Given the description of an element on the screen output the (x, y) to click on. 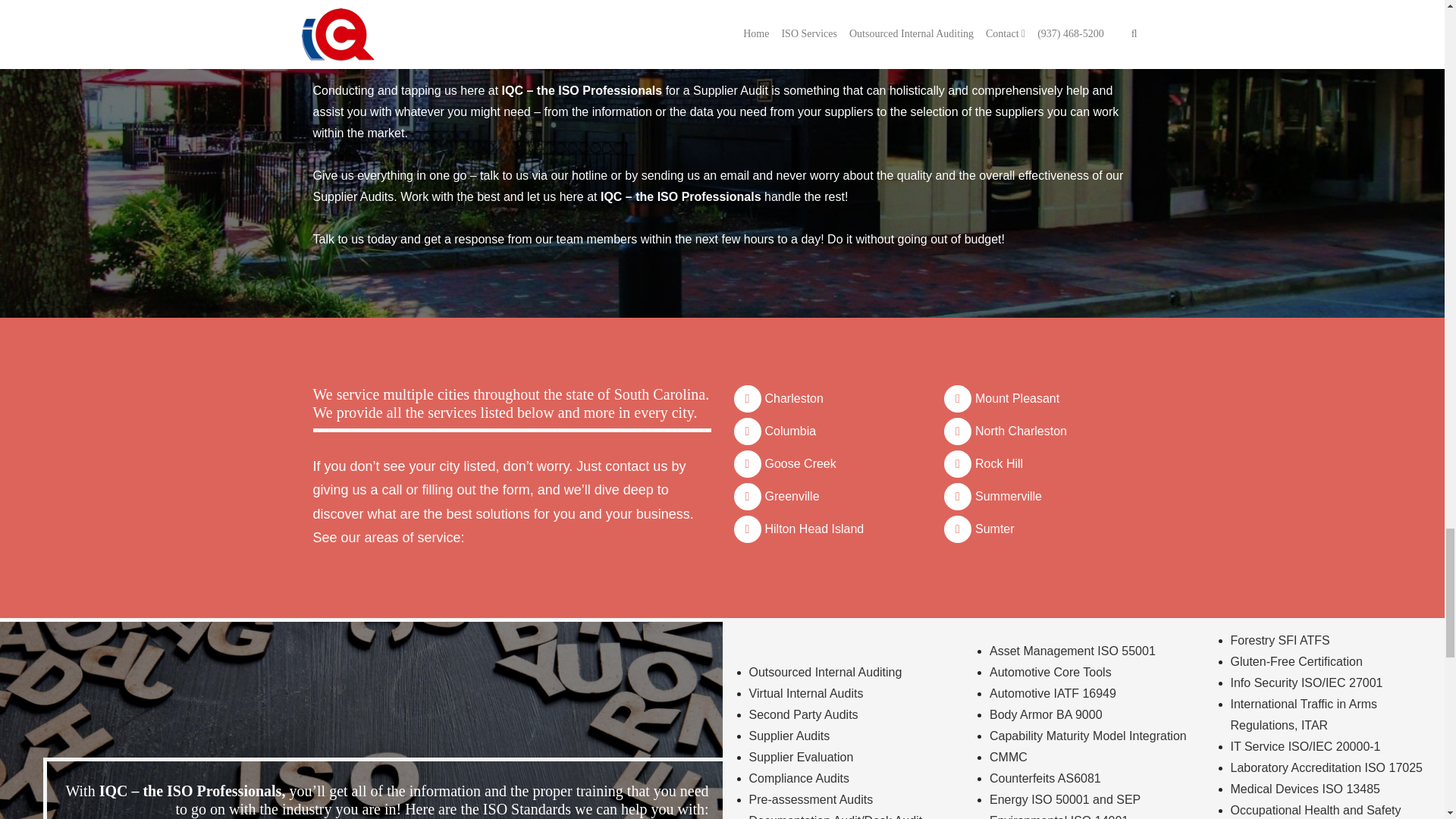
Rock Hill (999, 463)
Columbia (789, 431)
North Charleston (1021, 431)
Hilton Head Island (813, 528)
Sumter (994, 528)
Virtual Internal Audits (806, 693)
Charleston (793, 398)
Pre-assessment Audits (811, 799)
Body Armor BA 9000 (1046, 714)
Asset Management ISO 55001 (1073, 650)
Compliance Audits (799, 778)
Mount Pleasant (1017, 398)
Supplier Evaluation (801, 757)
Outsourced Internal Auditing (825, 671)
Goose Creek (799, 463)
